Given the description of an element on the screen output the (x, y) to click on. 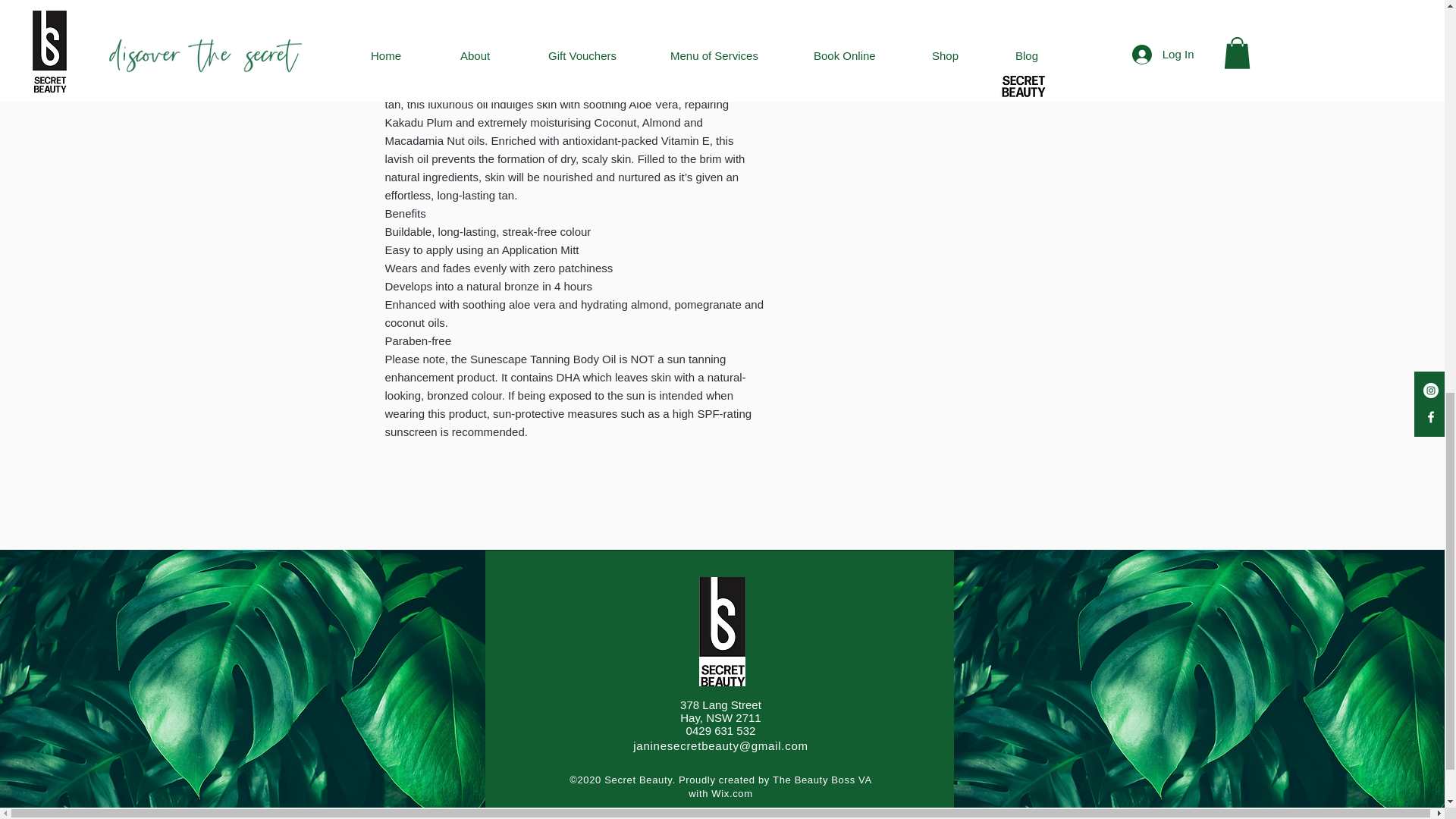
Wix.com (731, 793)
